Given the description of an element on the screen output the (x, y) to click on. 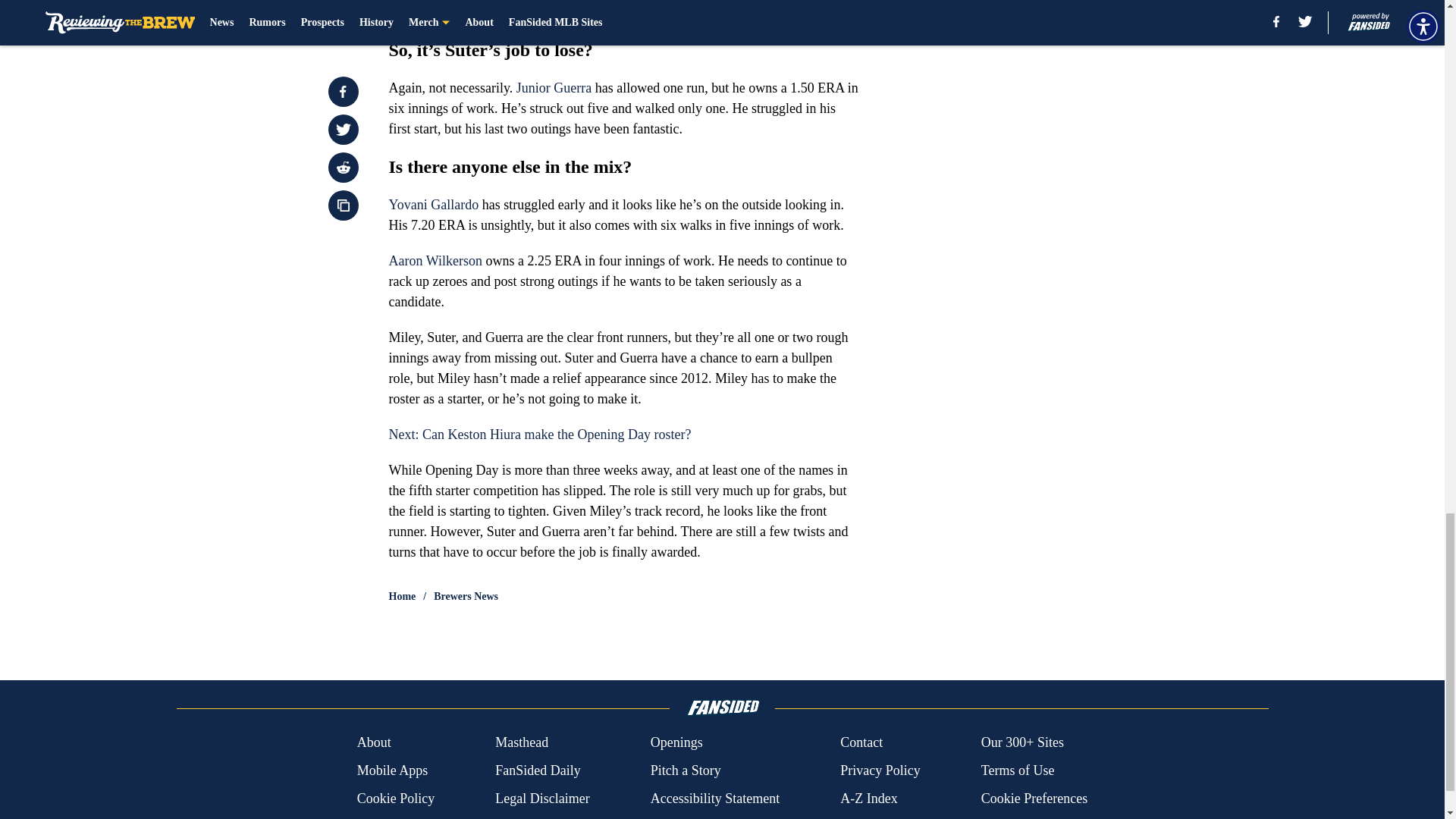
Aaron Wilkerson (434, 260)
Masthead (521, 742)
About (373, 742)
Brewers News (465, 596)
Contact (861, 742)
Pitch a Story (685, 770)
Yovani Gallardo (433, 204)
Home (401, 596)
Privacy Policy (880, 770)
Junior Guerra (553, 87)
